Given the description of an element on the screen output the (x, y) to click on. 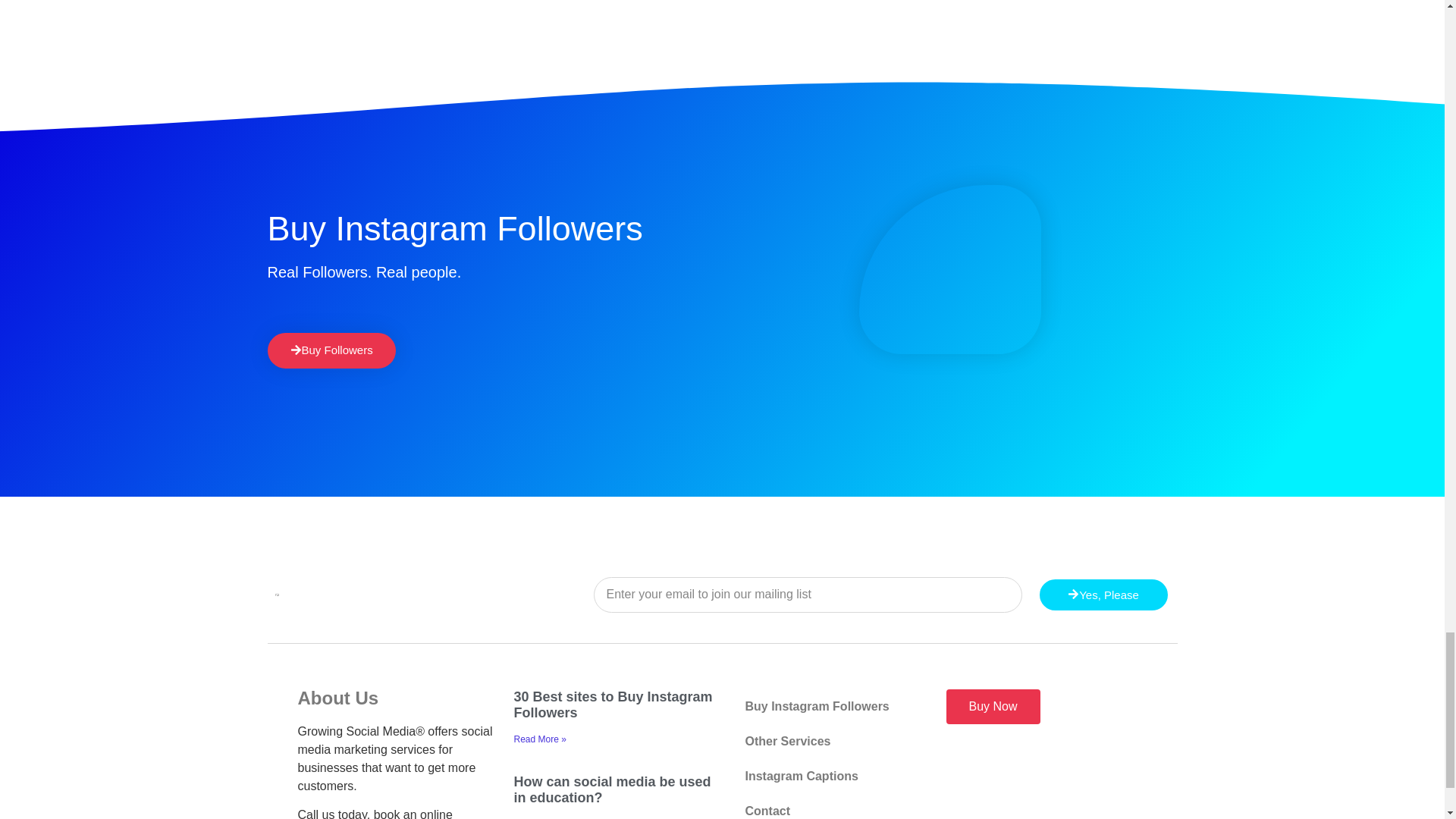
Instagram Captions (829, 776)
Other Services (829, 741)
Buy Instagram Followers (829, 706)
30 Best sites to Buy Instagram Followers (613, 705)
Contact (829, 806)
How can social media be used in education? (612, 789)
Buy Followers (330, 350)
Yes, Please (1103, 594)
